Given the description of an element on the screen output the (x, y) to click on. 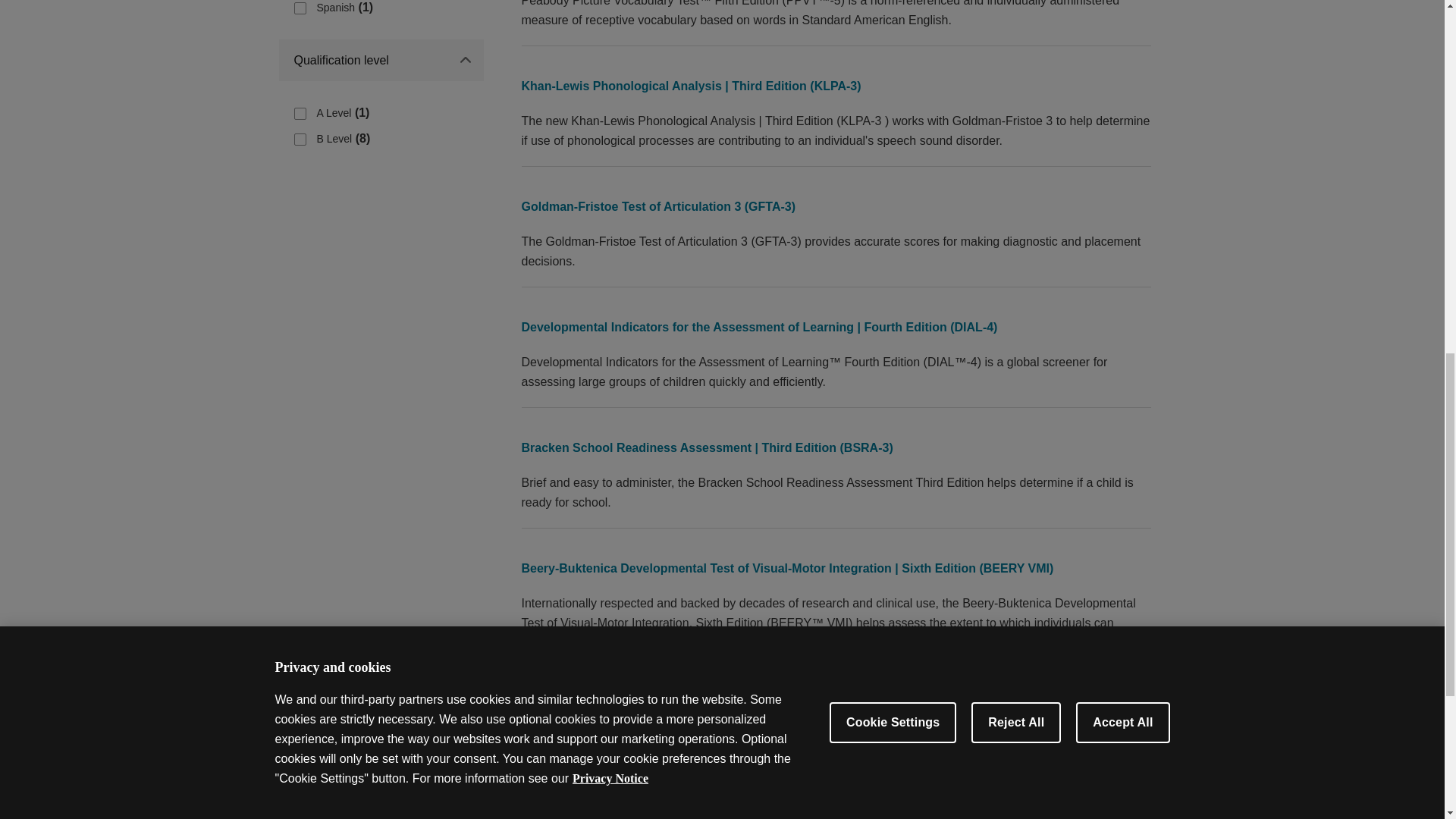
A Level (299, 113)
B Level (299, 139)
Spanish (299, 8)
